Given the description of an element on the screen output the (x, y) to click on. 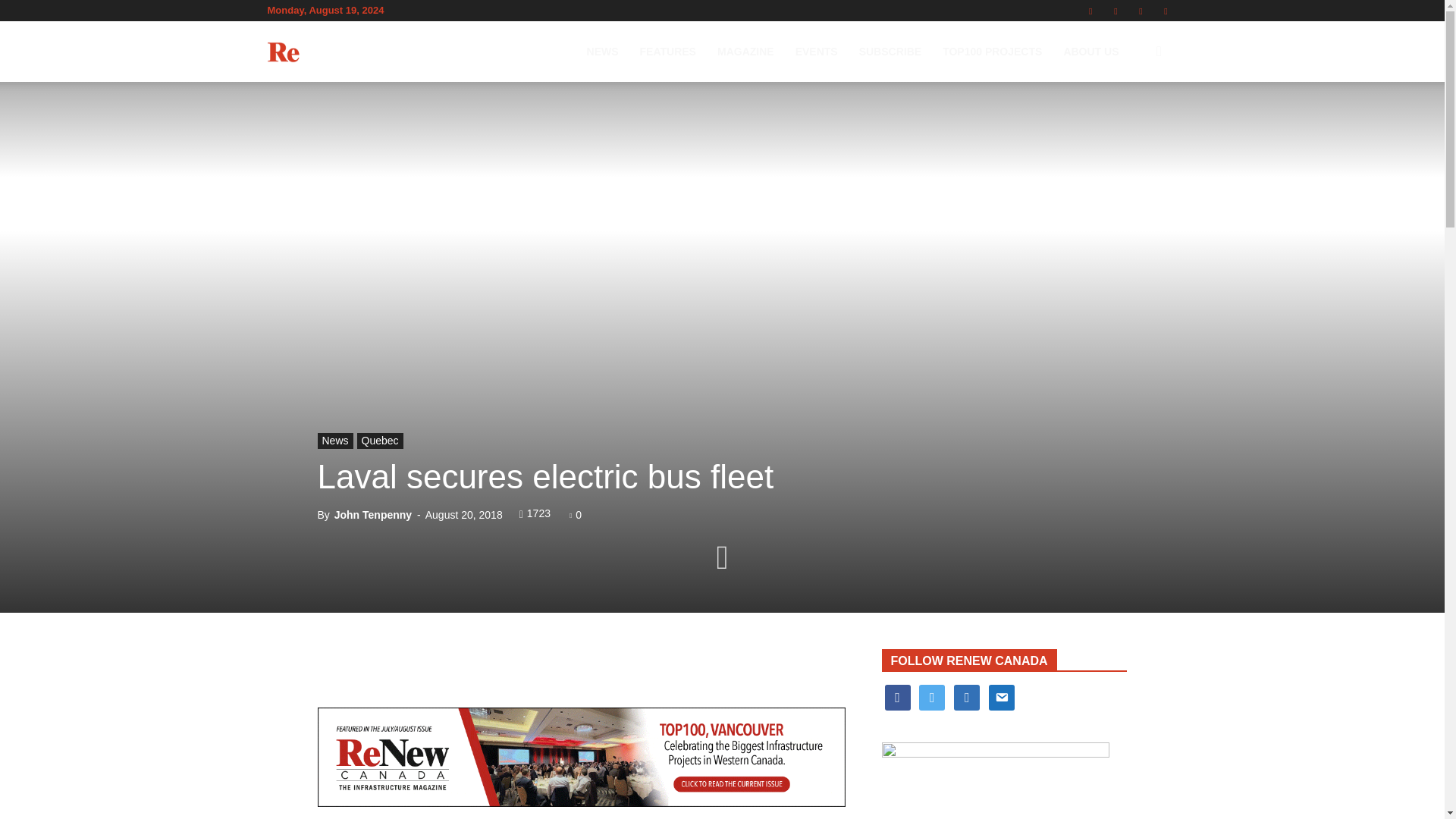
Youtube (1165, 10)
ReNew Canada (351, 51)
Twitter (1140, 10)
RSS (1114, 10)
Search (1134, 124)
Linkedin (1090, 10)
